Given the description of an element on the screen output the (x, y) to click on. 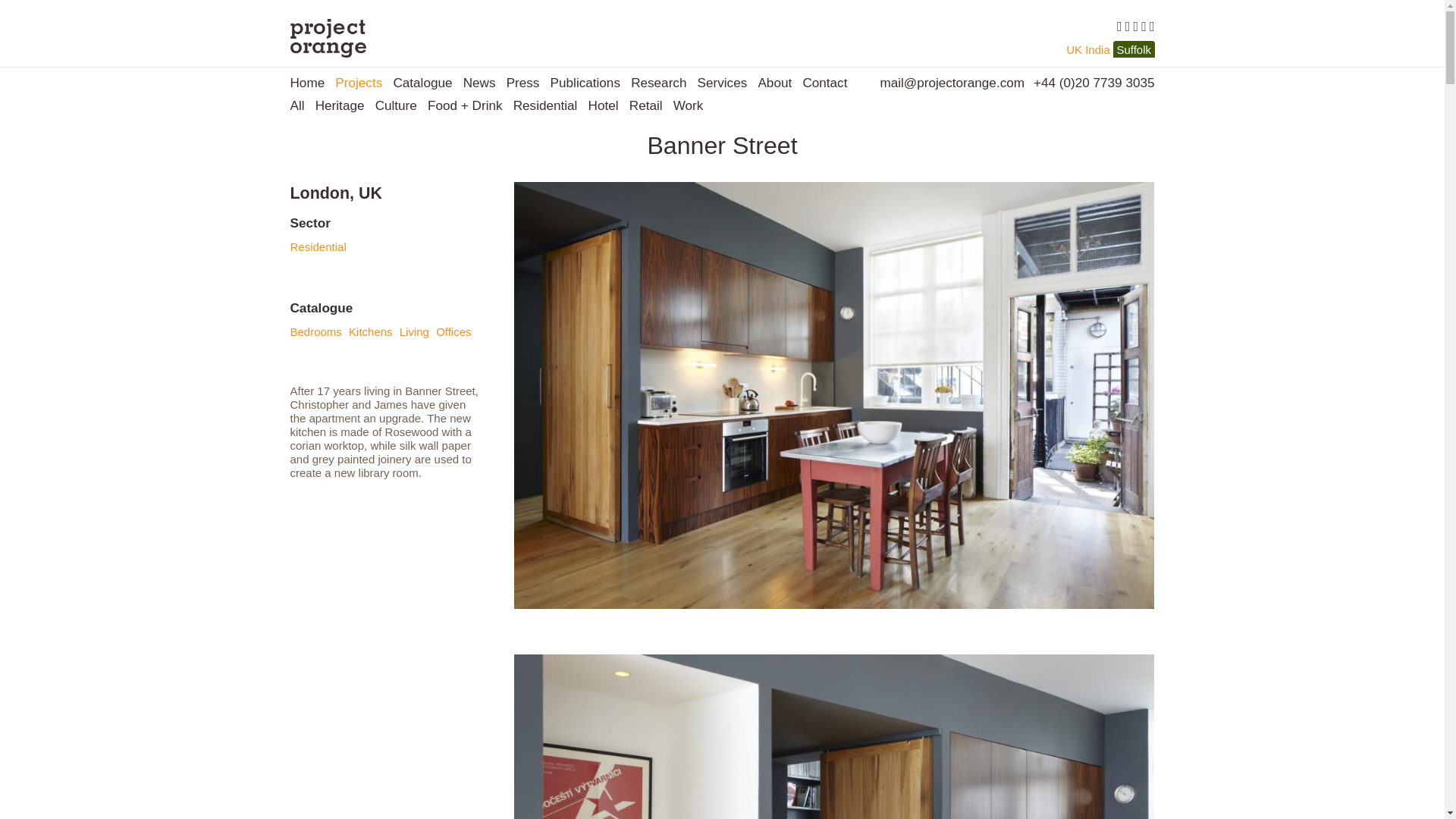
Services (722, 82)
All (296, 105)
Research (657, 82)
Culture (395, 105)
UK (1073, 49)
Work (687, 105)
Heritage (340, 105)
Home (306, 82)
Suffolk (1133, 49)
Catalogue (422, 82)
